Given the description of an element on the screen output the (x, y) to click on. 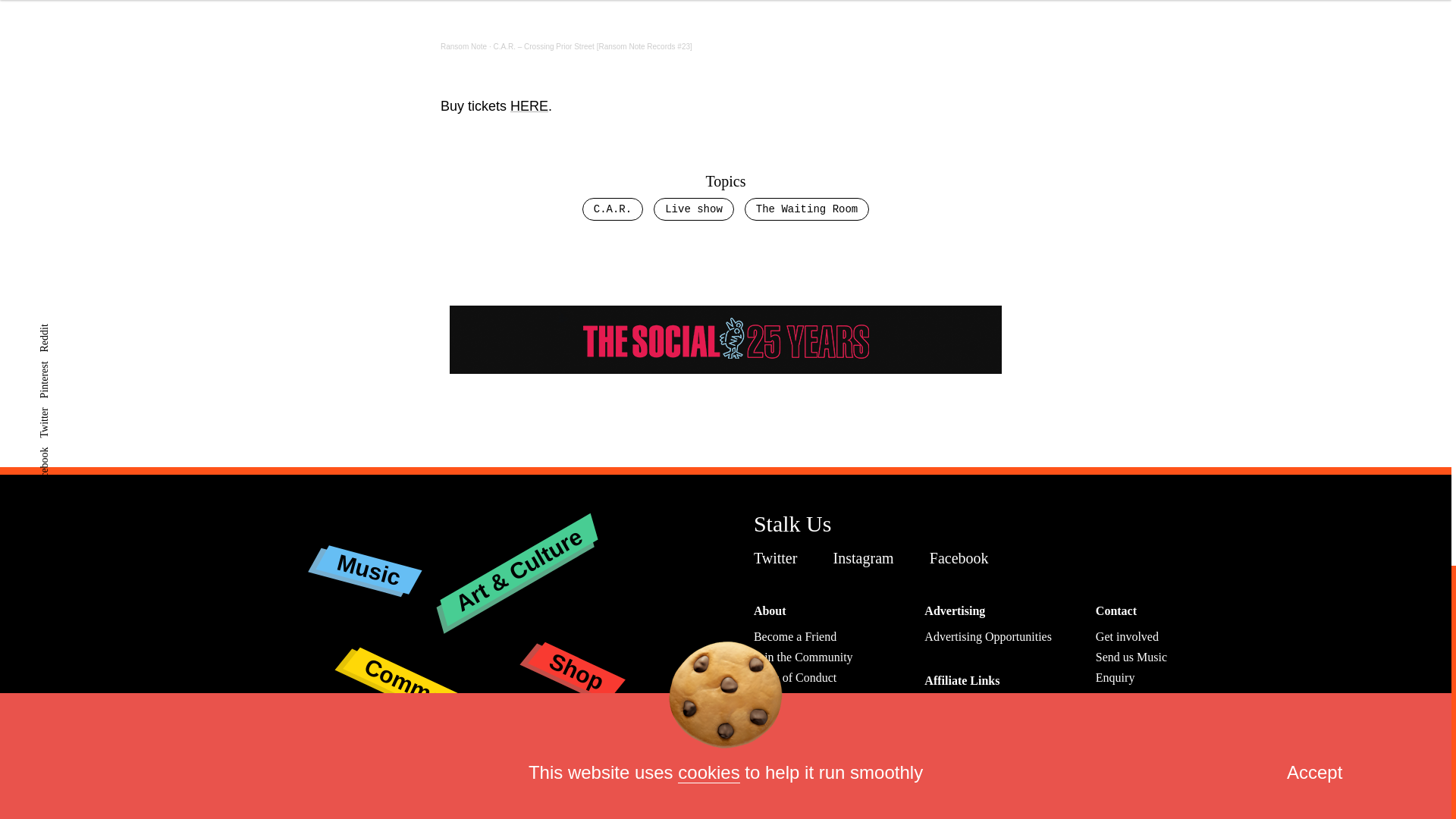
Instagram (866, 558)
C.A.R. (612, 209)
The Waiting Room (806, 209)
Music (366, 557)
Live show (693, 209)
Commentary (431, 659)
Facebook (962, 558)
HERE (529, 105)
Ransom Note (463, 46)
Ransom Note (463, 46)
Shop (575, 653)
Twitter (779, 558)
